Given the description of an element on the screen output the (x, y) to click on. 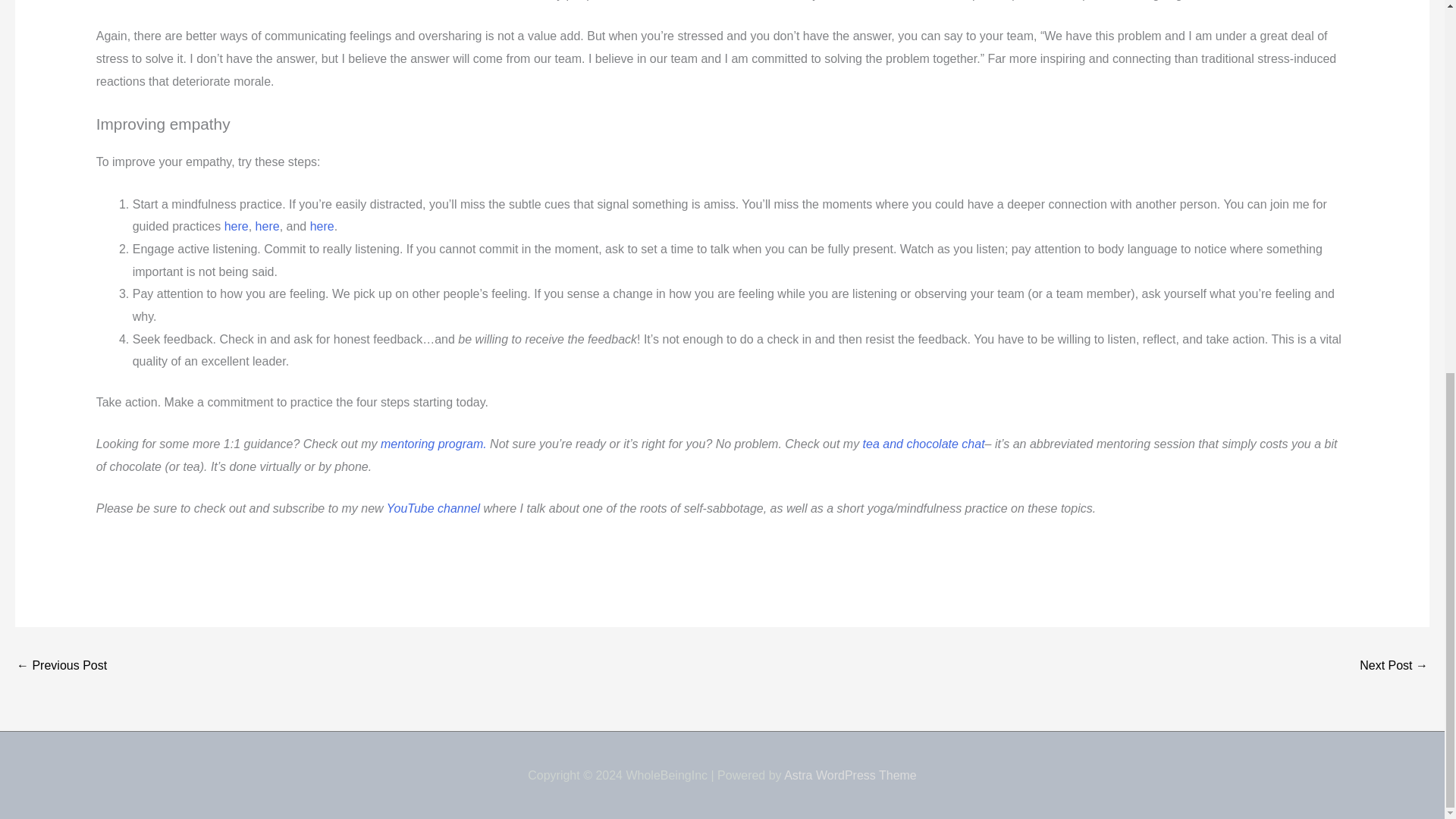
Astra WordPress Theme (850, 775)
here (236, 226)
Fear of failure is a lie (1393, 666)
tea and chocolate chat (924, 443)
The art of work-life balance (61, 666)
here (322, 226)
mentoring program. (433, 443)
YouTube channel (432, 508)
here (267, 226)
